Given the description of an element on the screen output the (x, y) to click on. 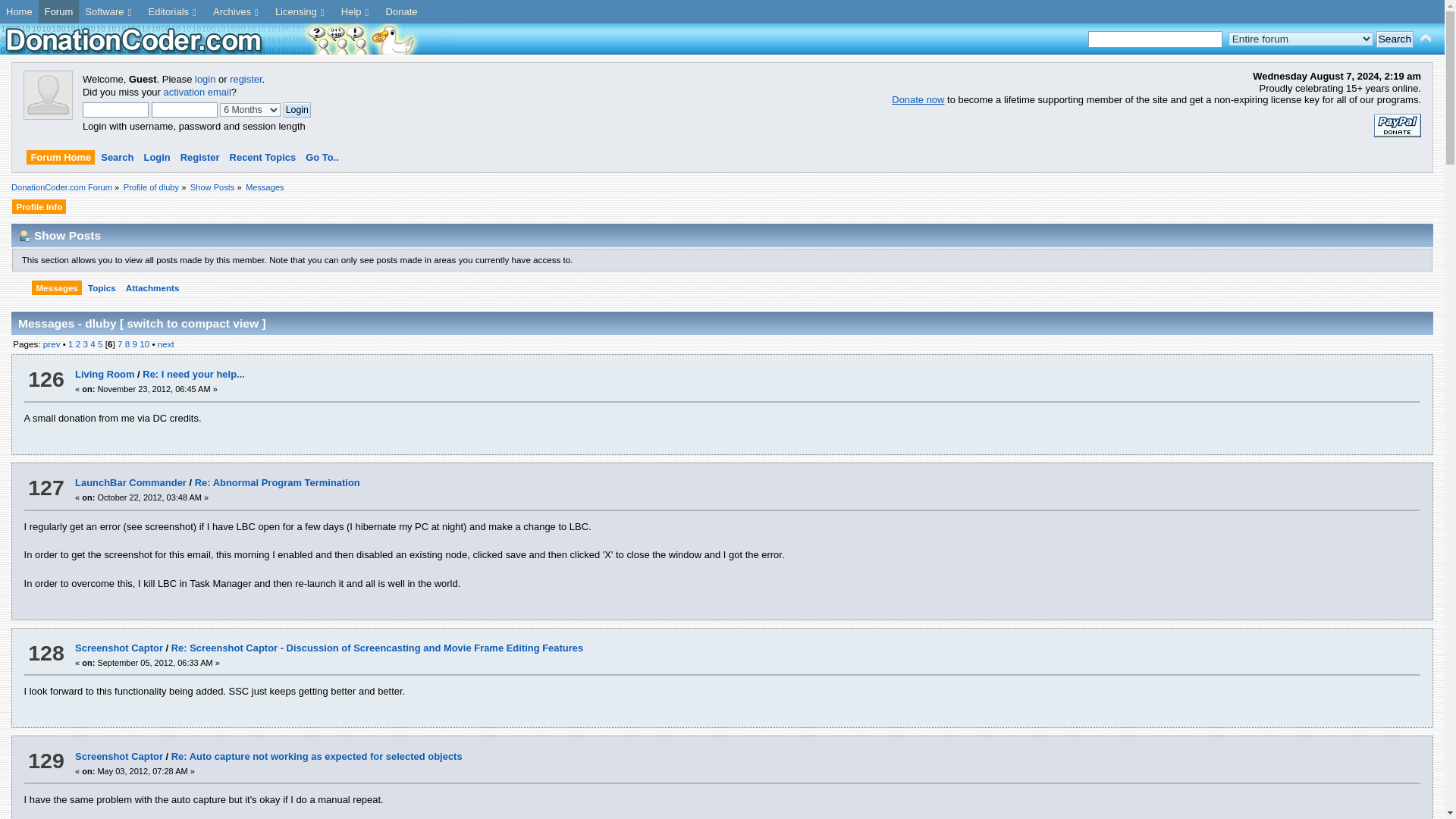
Editorials (174, 11)
Shrink or expand the header. (1425, 38)
Archives (237, 11)
Home (19, 11)
Search (1394, 39)
Software (109, 11)
click to register on the forum (47, 116)
Forum (59, 11)
Login (297, 109)
